Given the description of an element on the screen output the (x, y) to click on. 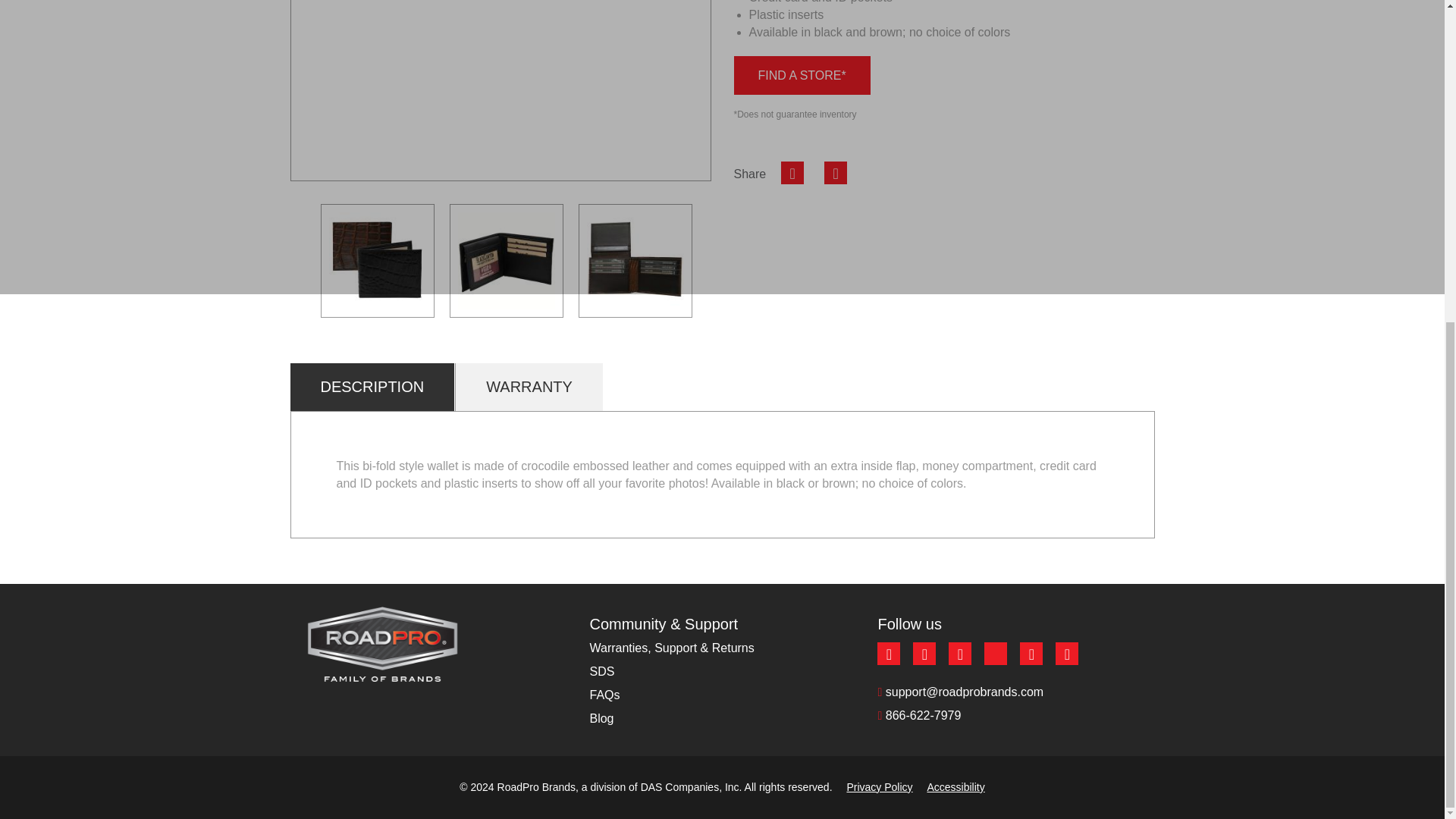
Facebook (791, 172)
Twitter (835, 172)
Pinterest (1066, 653)
Instagram (924, 653)
LinkedIn (960, 653)
TikTok (995, 653)
Twitter (1031, 653)
Facebook (888, 653)
